Given the description of an element on the screen output the (x, y) to click on. 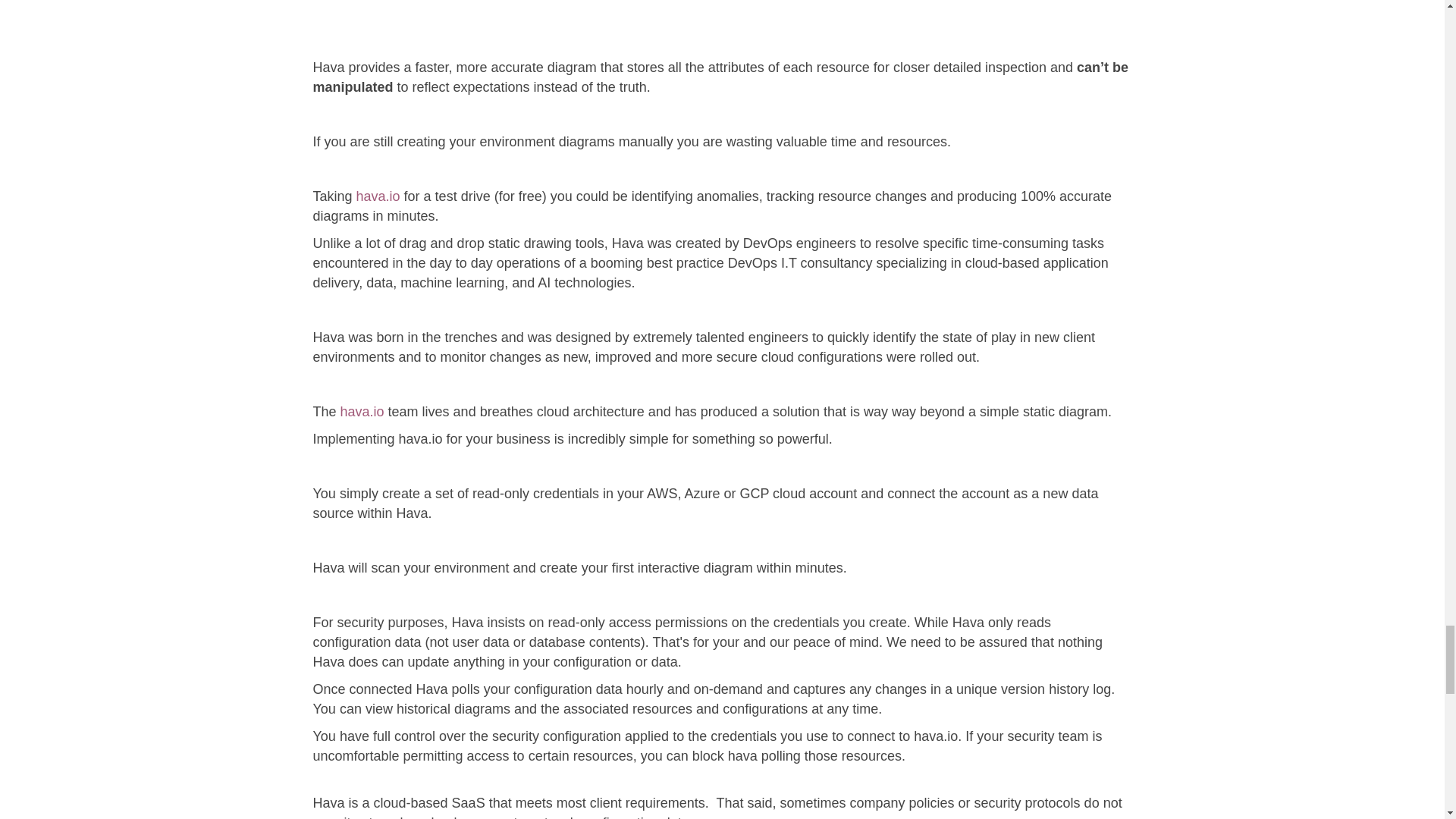
hava.io (362, 411)
hava.io (378, 196)
